Given the description of an element on the screen output the (x, y) to click on. 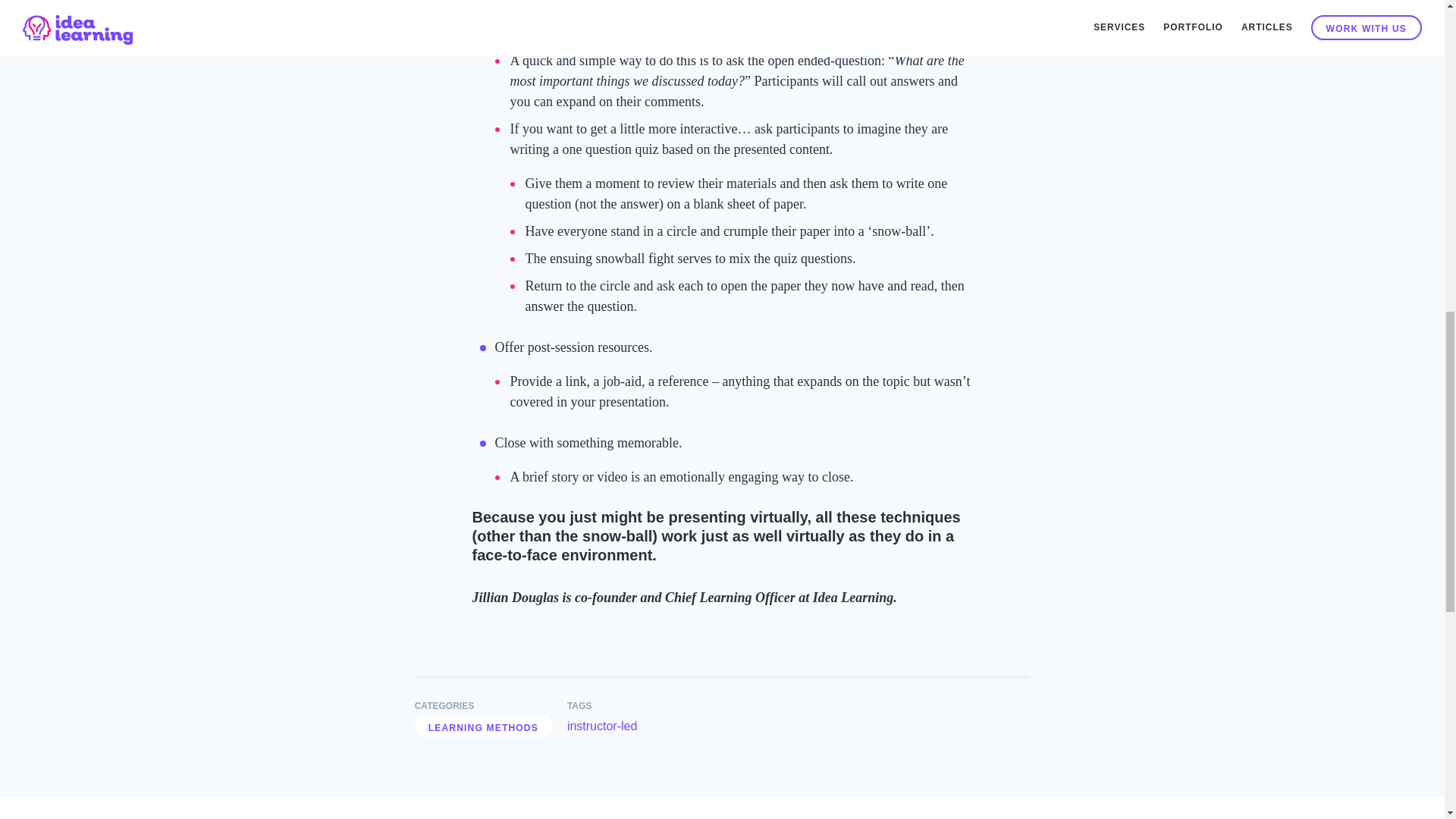
instructor-led (602, 726)
View Articles and Case Studies Tagged instructor-led (602, 726)
View Articles and Case Studies Tagged Learning Methods (482, 726)
LEARNING METHODS (482, 726)
